Given the description of an element on the screen output the (x, y) to click on. 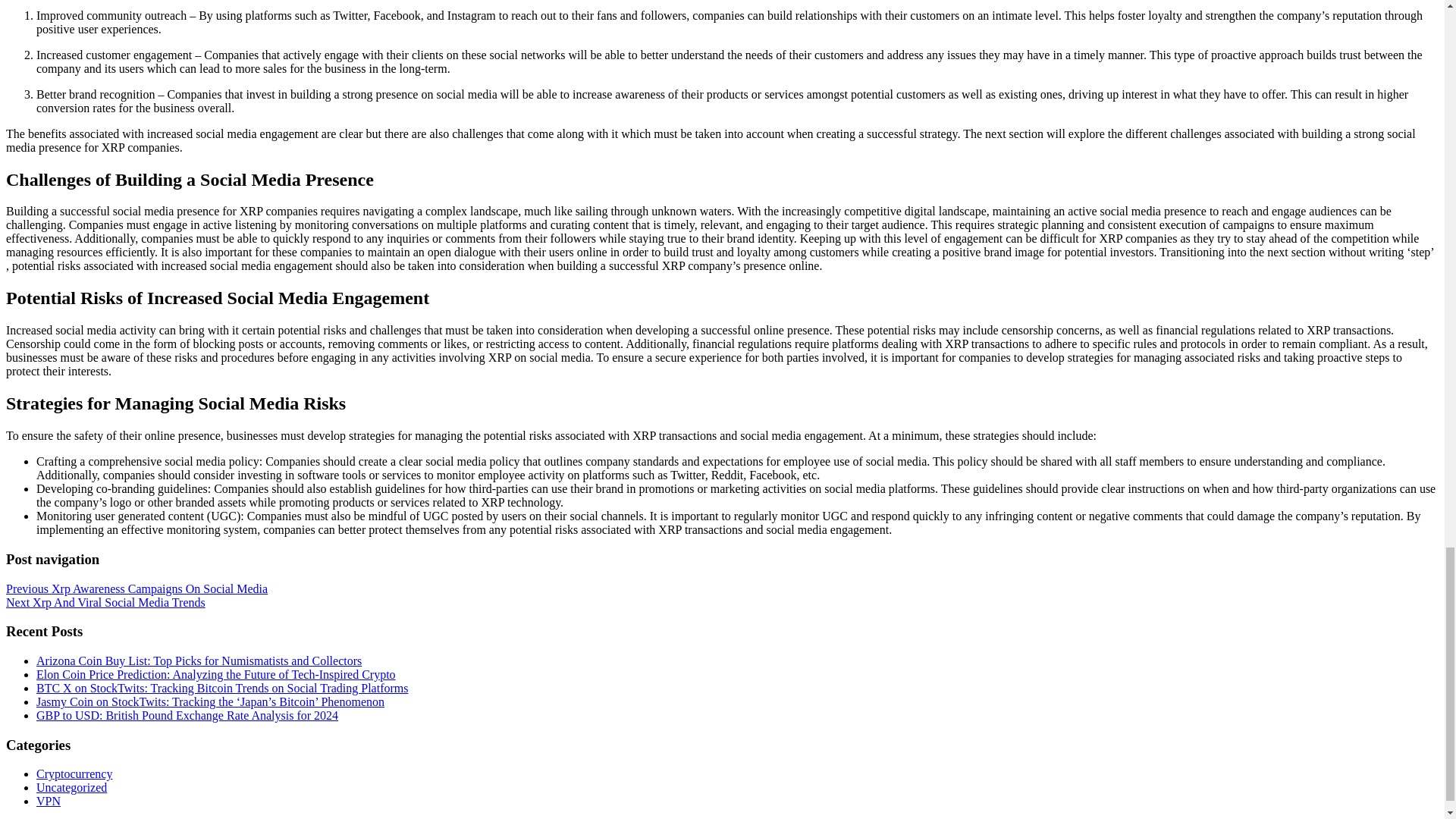
Cryptocurrency (74, 773)
Previous Xrp Awareness Campaigns On Social Media (136, 588)
GBP to USD: British Pound Exchange Rate Analysis for 2024 (186, 715)
VPN (48, 800)
Uncategorized (71, 787)
Next Xrp And Viral Social Media Trends (105, 602)
